Given the description of an element on the screen output the (x, y) to click on. 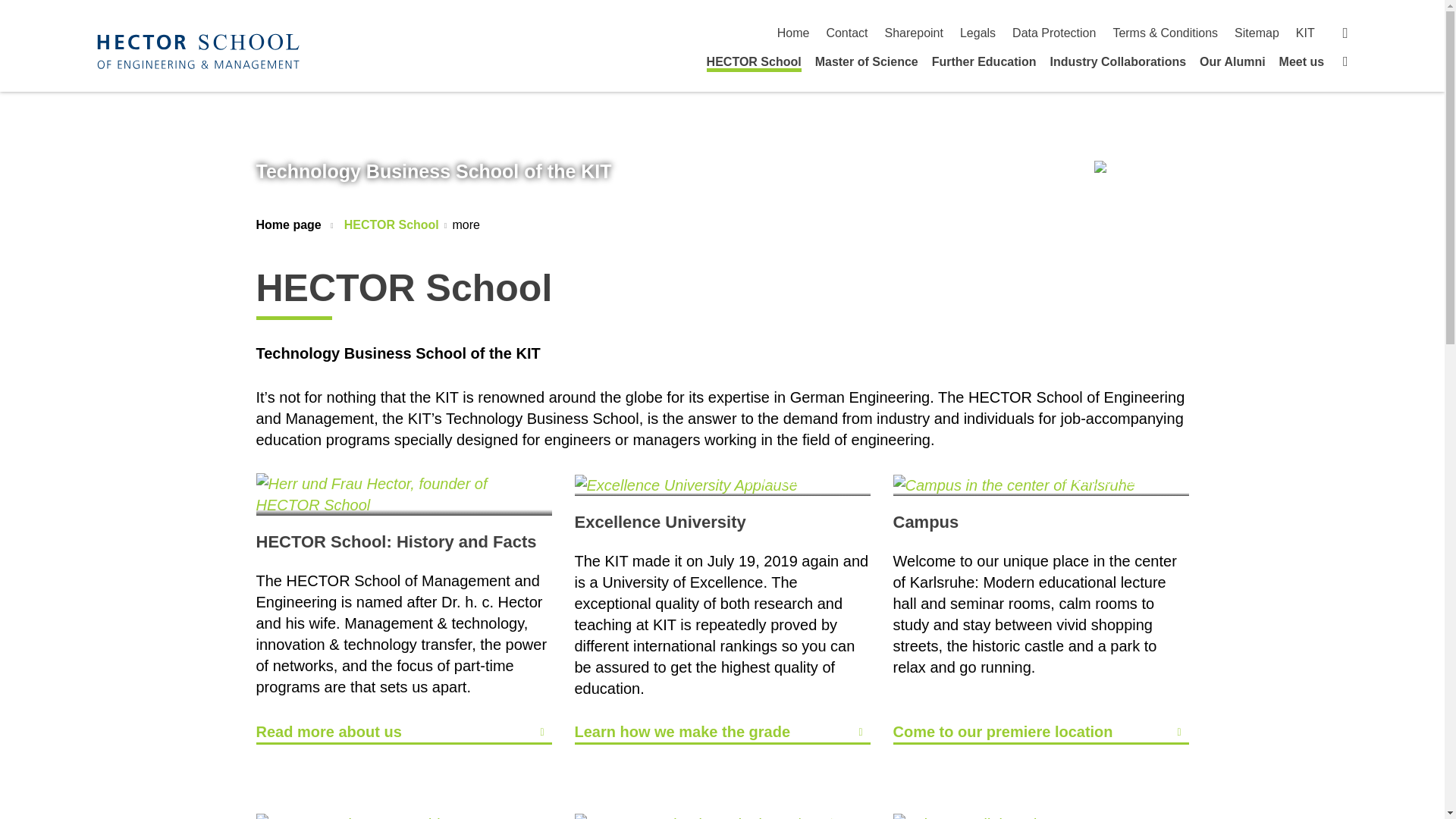
KIT-Homepage (198, 50)
Data Protection (1053, 32)
Sharepoint (914, 32)
HECTOR School (754, 63)
Legals (977, 32)
KIT (1304, 32)
startpage (793, 32)
Technology Business School of the KIT (1141, 170)
Contact (846, 32)
Home (793, 32)
Sitemap (1256, 32)
Technology Business School of the KIT (433, 171)
